Given the description of an element on the screen output the (x, y) to click on. 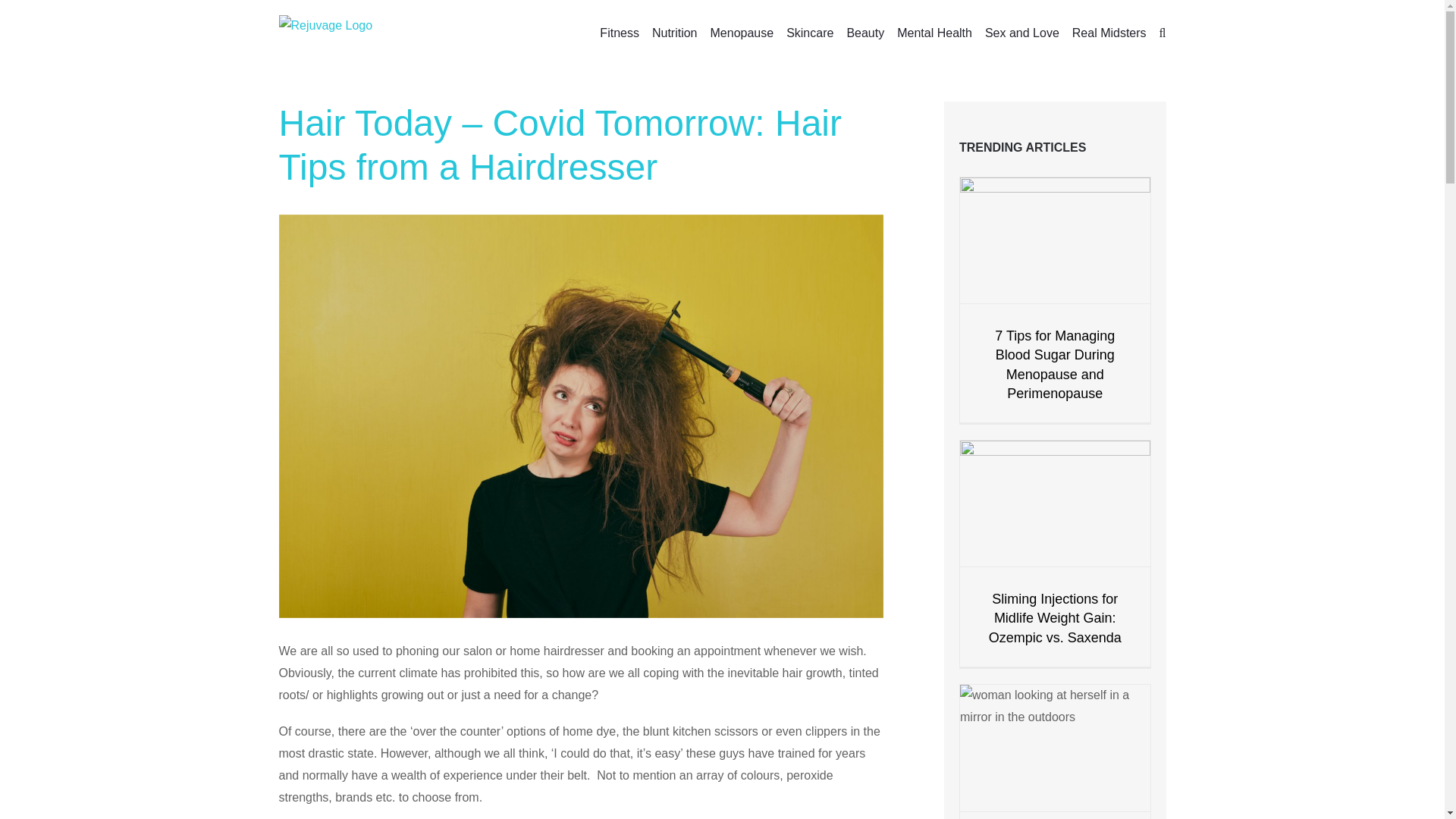
Real Midsters (1109, 31)
Menopause (742, 31)
Mental Health (934, 31)
Sex and Love (1022, 31)
